Given the description of an element on the screen output the (x, y) to click on. 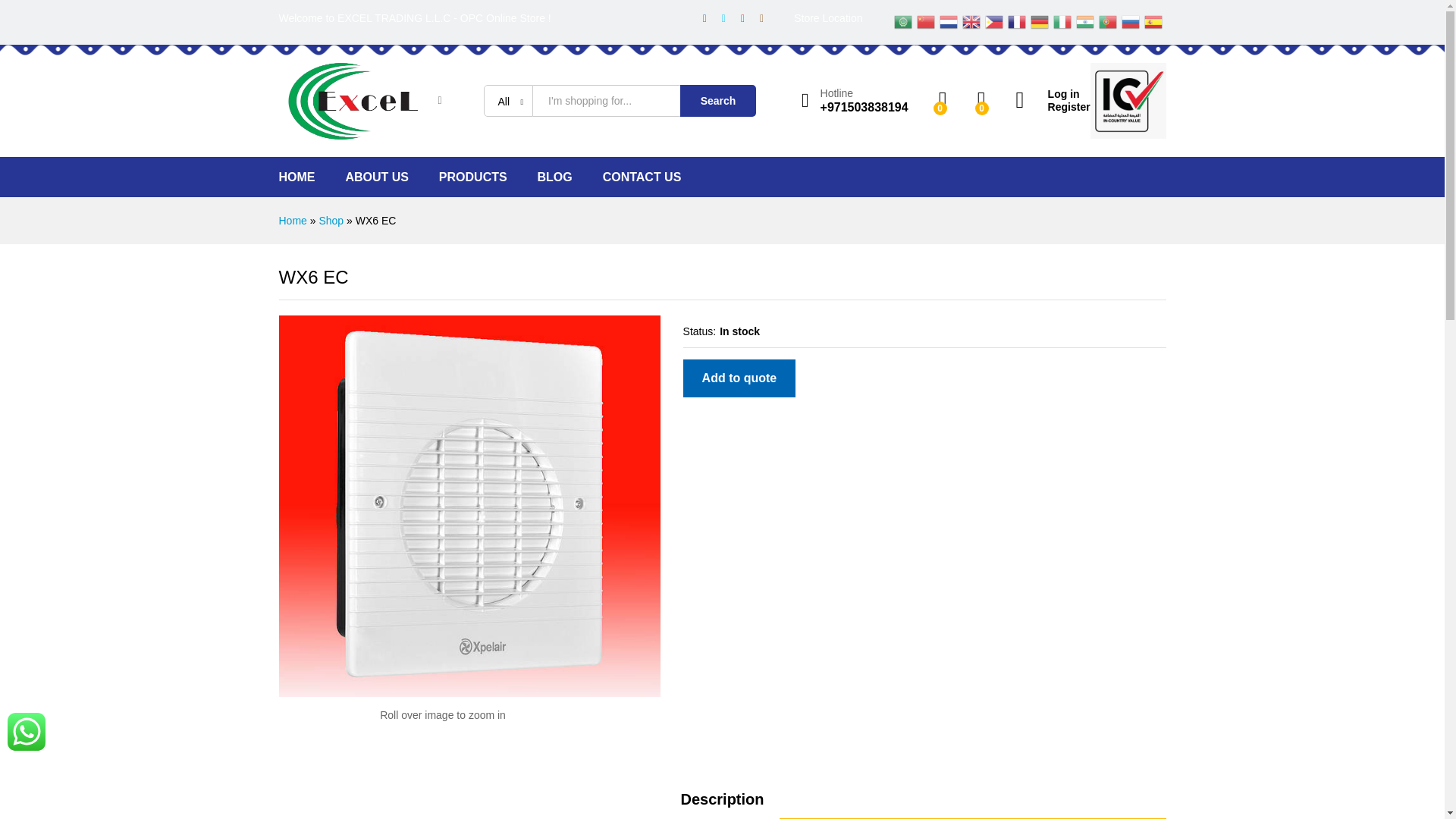
Twitter (723, 18)
German (1040, 21)
Portuguese (1108, 21)
Facebook (704, 18)
Store Location (827, 18)
Russian (1130, 21)
Arabic (903, 21)
Malayalam (1085, 21)
English (972, 21)
Dutch (948, 21)
Italian (1062, 21)
Spanish (1154, 21)
0 (943, 100)
Search (717, 101)
Filipino (995, 21)
